Given the description of an element on the screen output the (x, y) to click on. 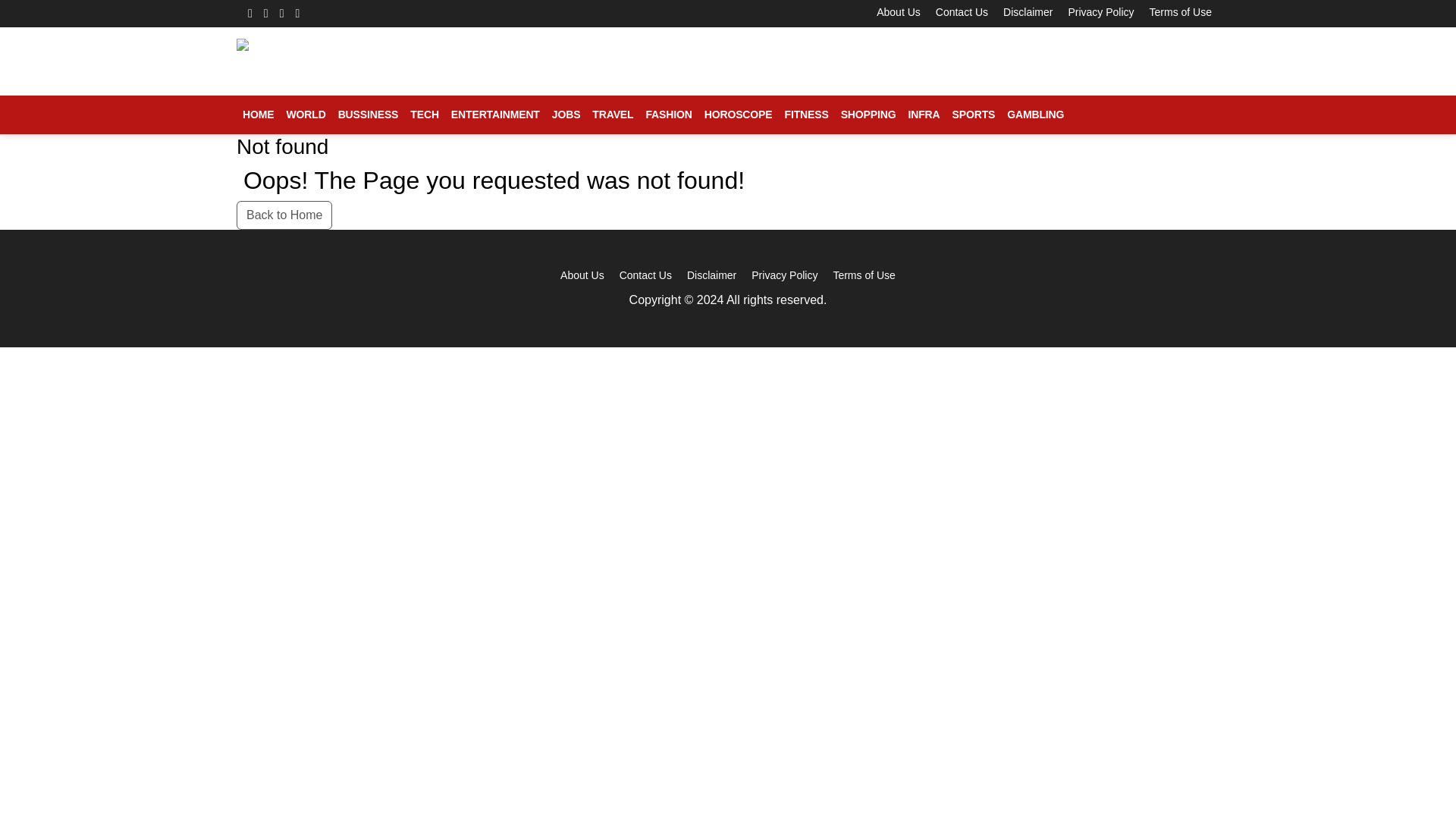
NFL (783, 164)
BUSSINESS (367, 114)
HOME (257, 114)
Privacy Policy (783, 275)
WORLD (305, 114)
INFRA (922, 114)
About Us (898, 11)
NBA (783, 164)
SPORTS (973, 114)
FASHION (668, 114)
SHOPPING (868, 114)
About Us (582, 275)
ENTERTAINMENT (495, 114)
Horse Racing (804, 164)
Contact Us (962, 11)
